Given the description of an element on the screen output the (x, y) to click on. 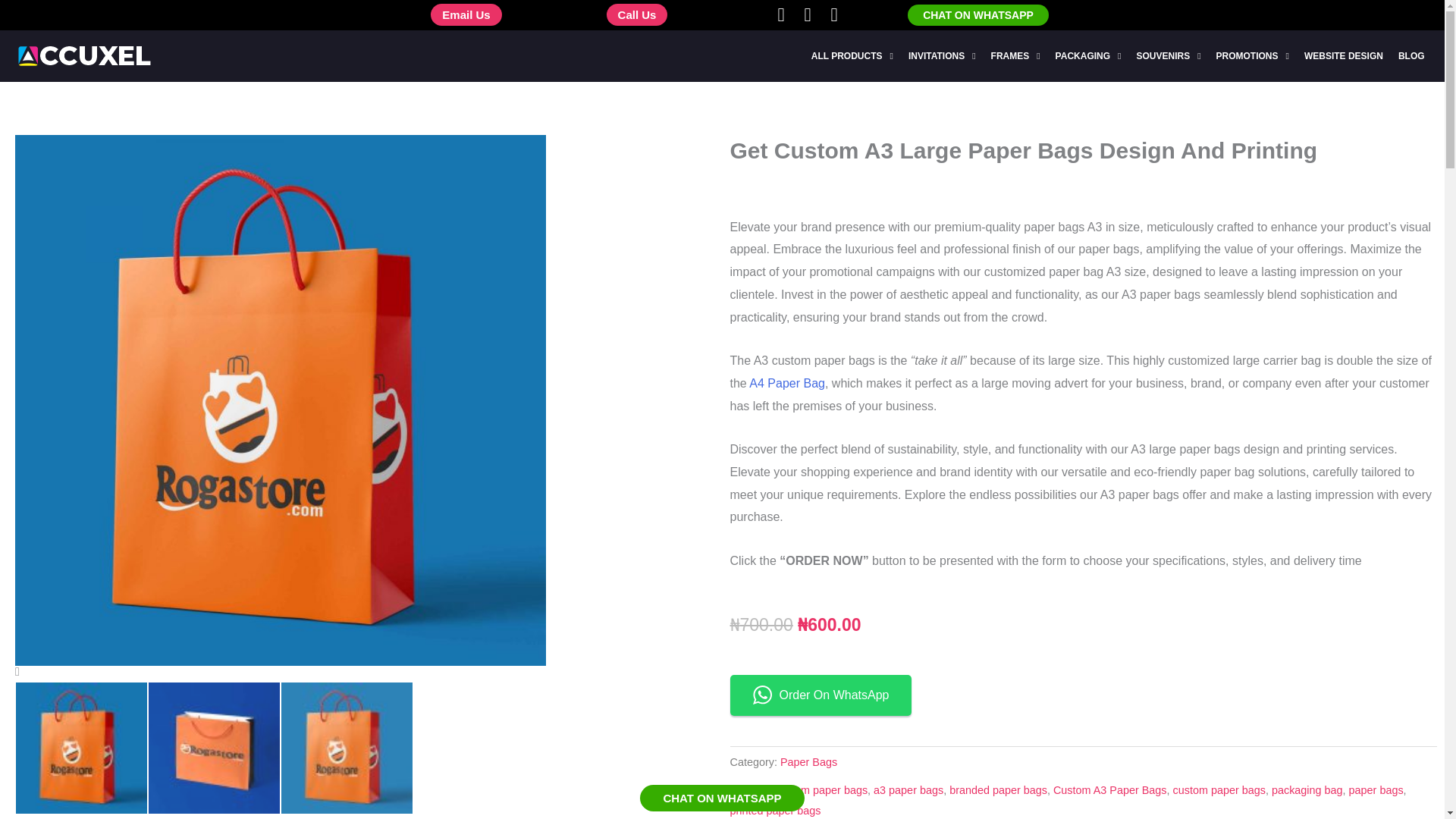
Call Us (637, 14)
Get Custom A3 Large Paper Bags Design and Printing 3 (213, 748)
INVITATIONS (942, 55)
ALL PRODUCTS (852, 55)
Facebook-square (780, 14)
Instagram (834, 14)
FRAMES (1015, 55)
Twitter (806, 14)
CHAT ON WHATSAPP (977, 14)
Email Us (465, 14)
Get Custom A3 Large Paper Bags Design and Printing 2 (81, 748)
A3 Printed Paper Bags (280, 671)
A3 Printed Paper Bags (81, 747)
PACKAGING (1089, 55)
Get Custom A3 Large Paper Bags Design and Printing 4 (346, 748)
